Given the description of an element on the screen output the (x, y) to click on. 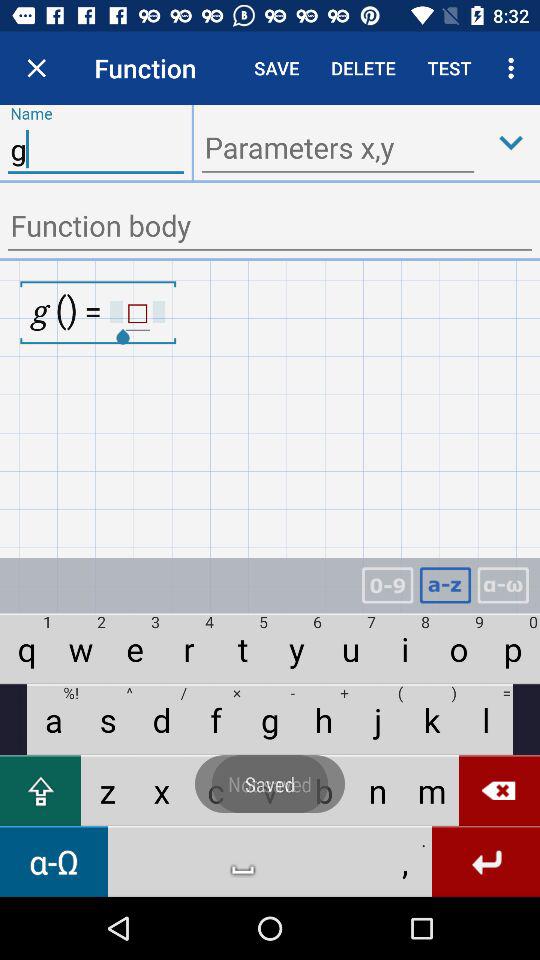
enable keyboard (445, 585)
